Given the description of an element on the screen output the (x, y) to click on. 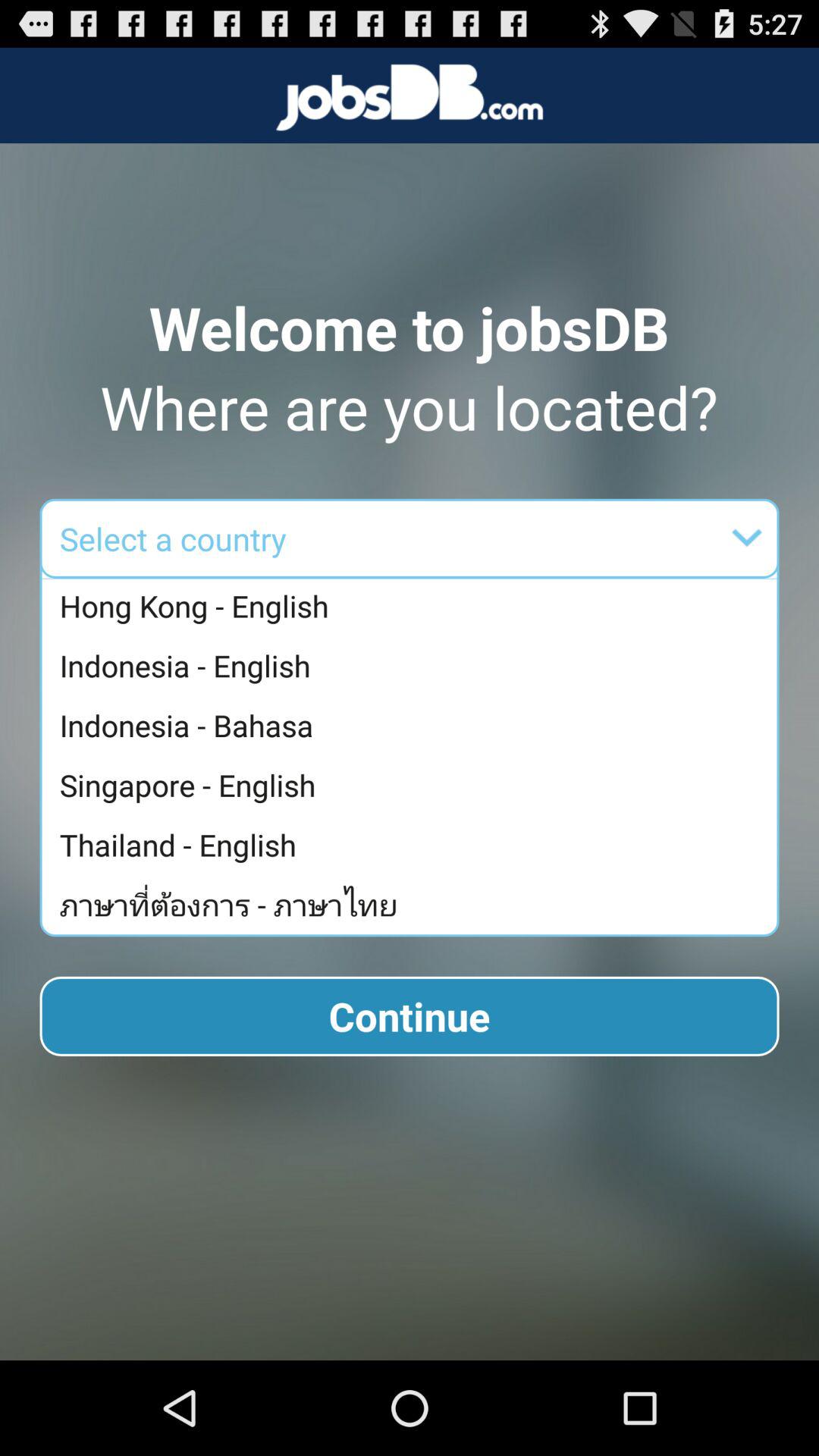
select the option (506, 538)
